Given the description of an element on the screen output the (x, y) to click on. 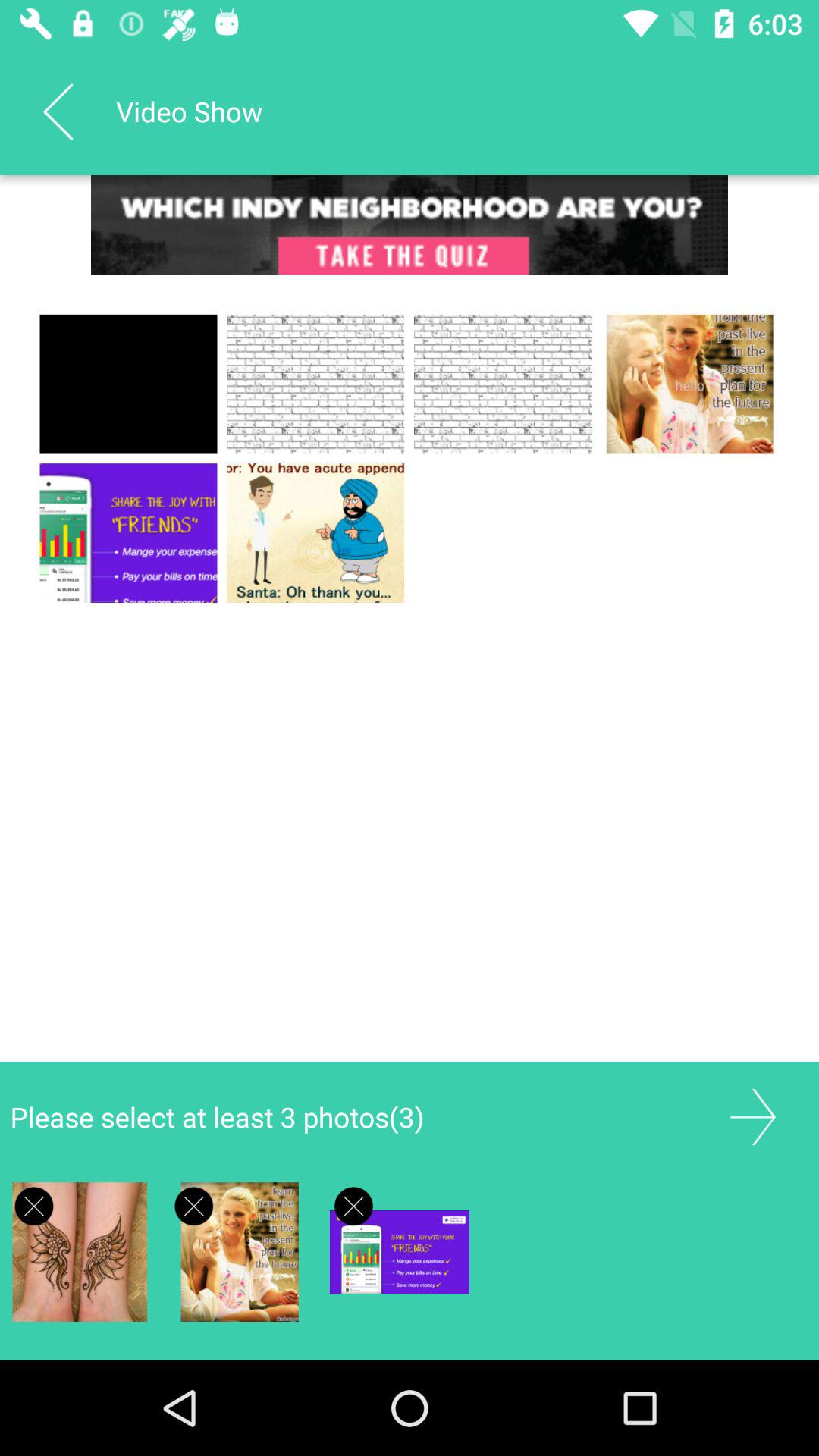
ask advertisement selection (34, 1206)
